Given the description of an element on the screen output the (x, y) to click on. 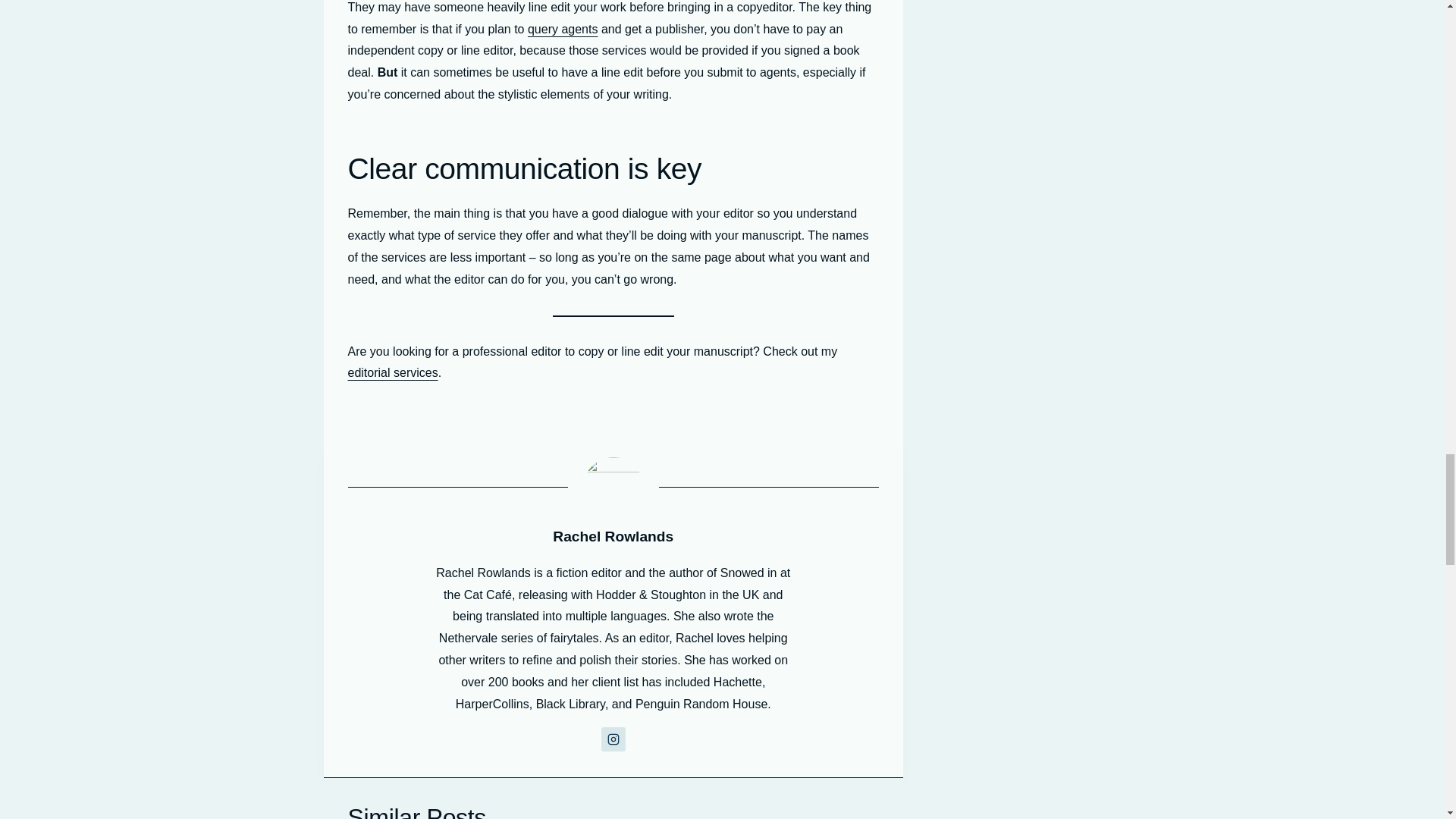
Posts by Rachel Rowlands (612, 536)
Follow Rachel Rowlands on Instagram (613, 739)
Rachel Rowlands (612, 536)
query agents (562, 29)
editorial services (392, 372)
